Given the description of an element on the screen output the (x, y) to click on. 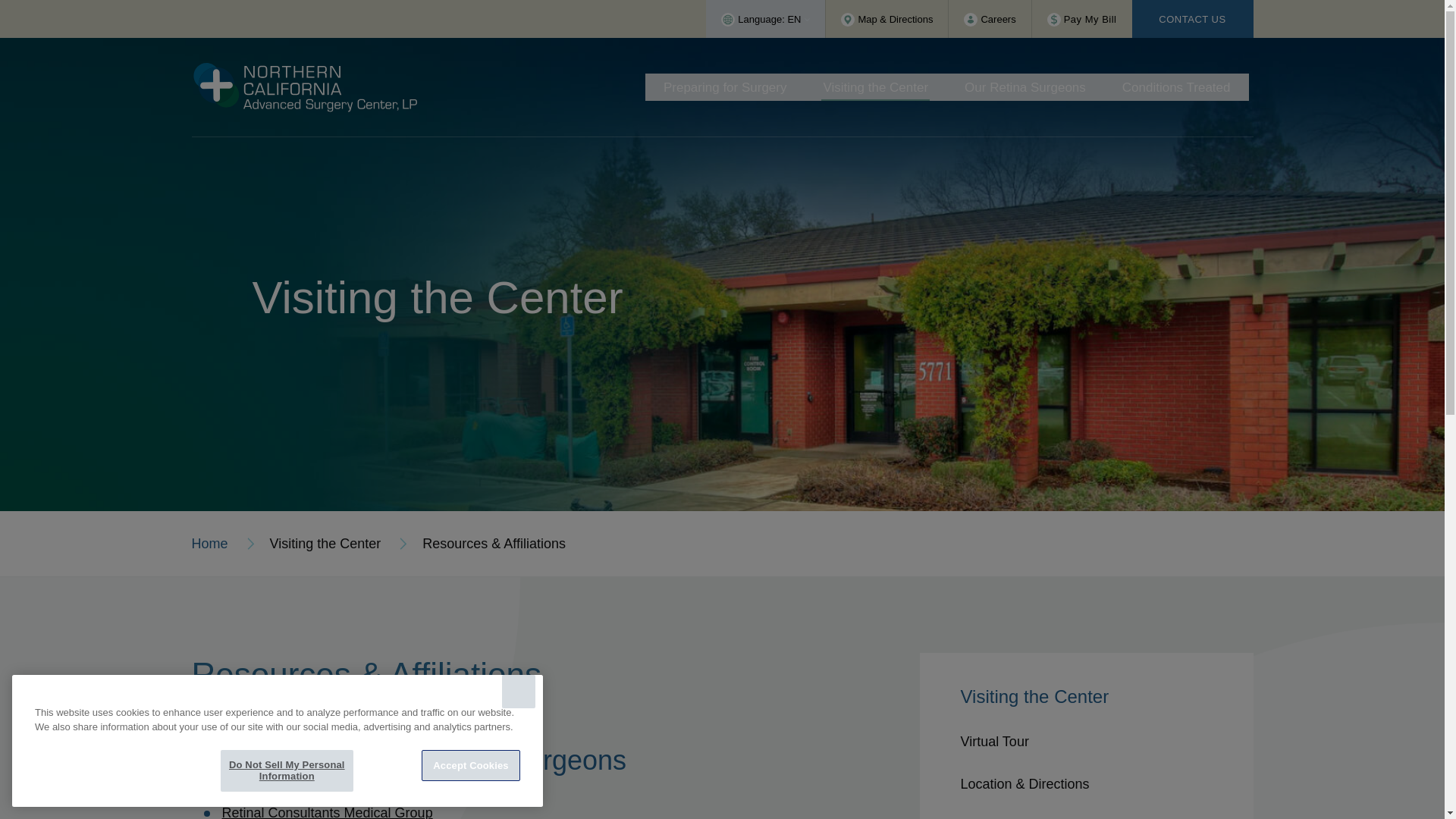
Careers (989, 18)
Our Retina Surgeons (1024, 86)
Visiting the Center (875, 86)
Preparing for Surgery (725, 86)
Language: EN (765, 18)
Pay My Bill (1082, 18)
CONTACT US (1191, 18)
